Given the description of an element on the screen output the (x, y) to click on. 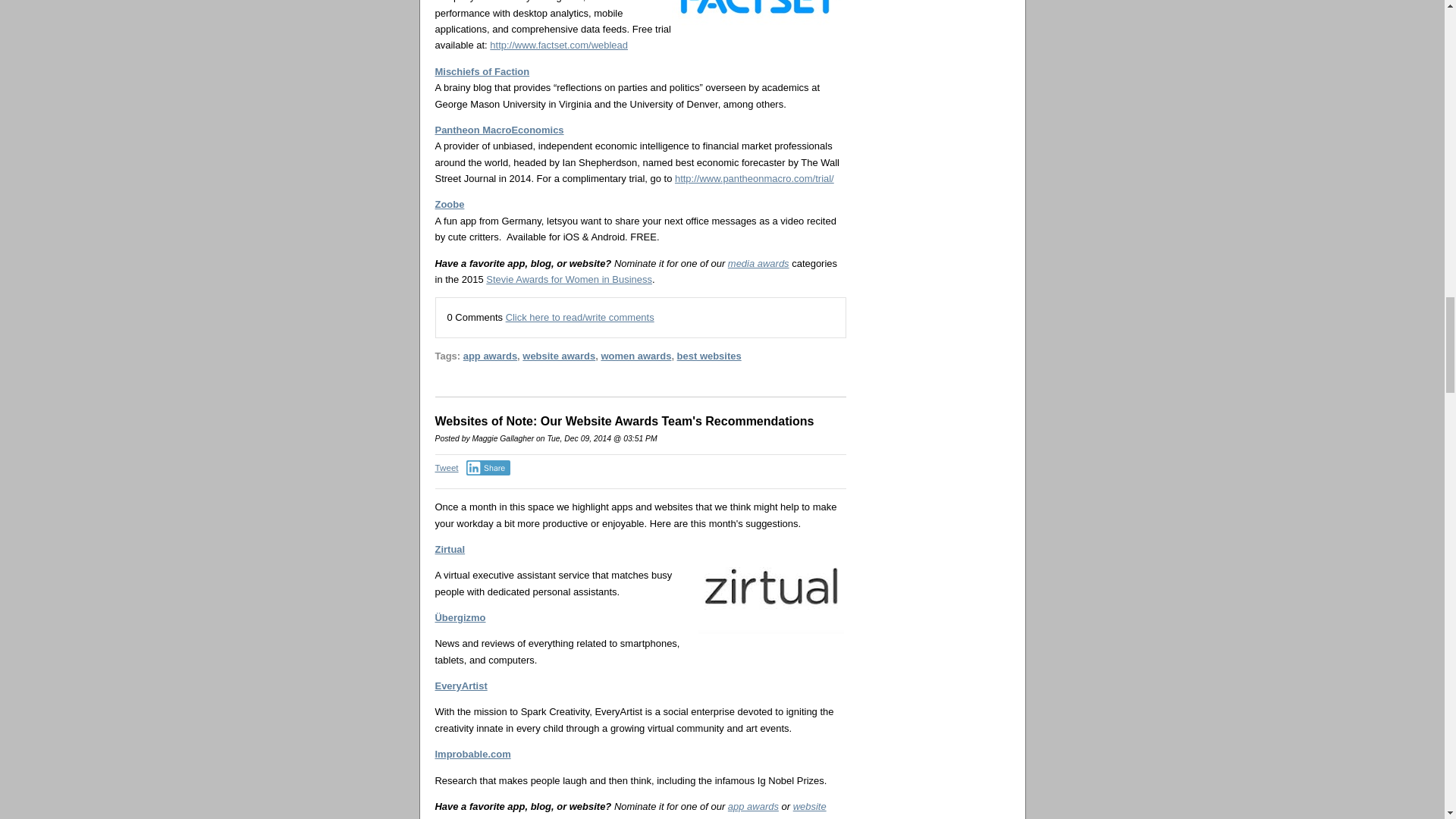
American Business Awards (627, 817)
Zirtual (450, 549)
Improbable.com (473, 754)
EveryArtist (461, 685)
app awards (753, 806)
website awards  (631, 809)
